Given the description of an element on the screen output the (x, y) to click on. 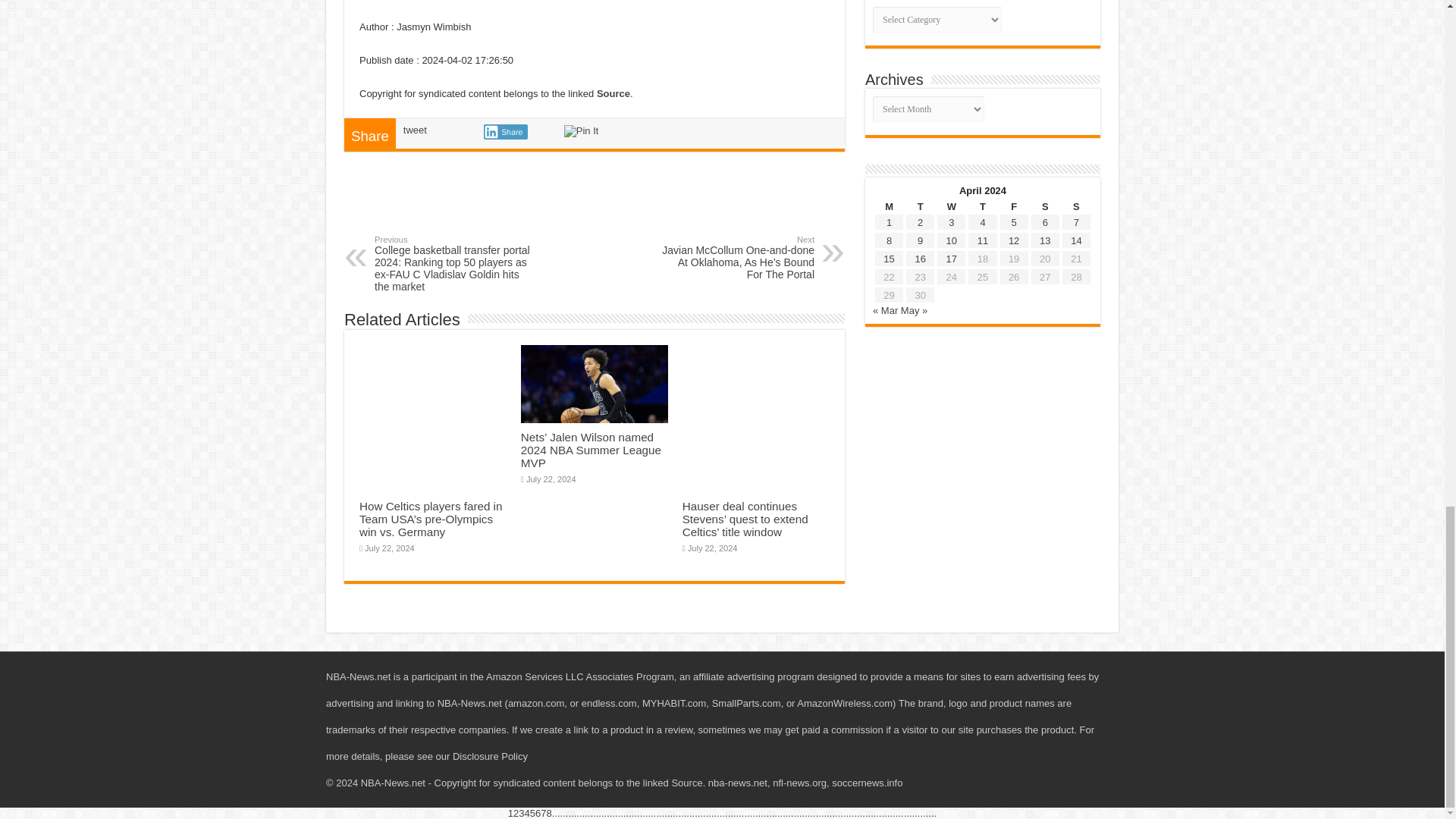
Tuesday (919, 206)
Advertisement (593, 204)
Source (613, 93)
Wednesday (951, 206)
Monday (889, 206)
Share (505, 131)
tweet (414, 129)
Friday (1013, 206)
Sunday (1075, 206)
Pin It (581, 131)
Thursday (982, 206)
Saturday (1044, 206)
